Given the description of an element on the screen output the (x, y) to click on. 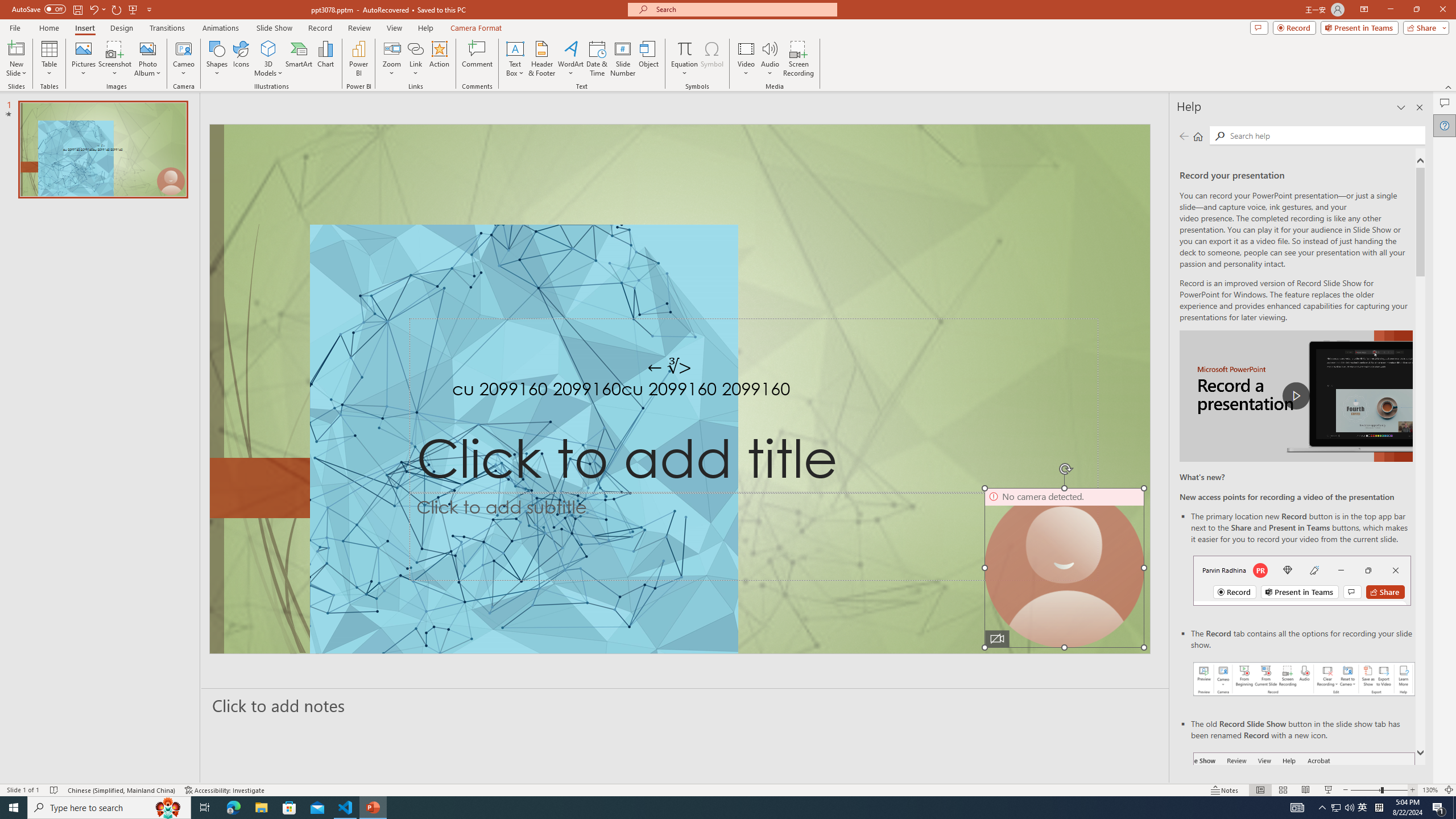
Shapes (216, 58)
Search (1219, 136)
3D Models (268, 48)
Draw Horizontal Text Box (515, 48)
TextBox 7 (669, 367)
SmartArt... (298, 58)
Subtitle TextBox (753, 536)
Video (745, 58)
Action (439, 58)
TextBox 61 (678, 391)
Screen Recording... (798, 58)
